Given the description of an element on the screen output the (x, y) to click on. 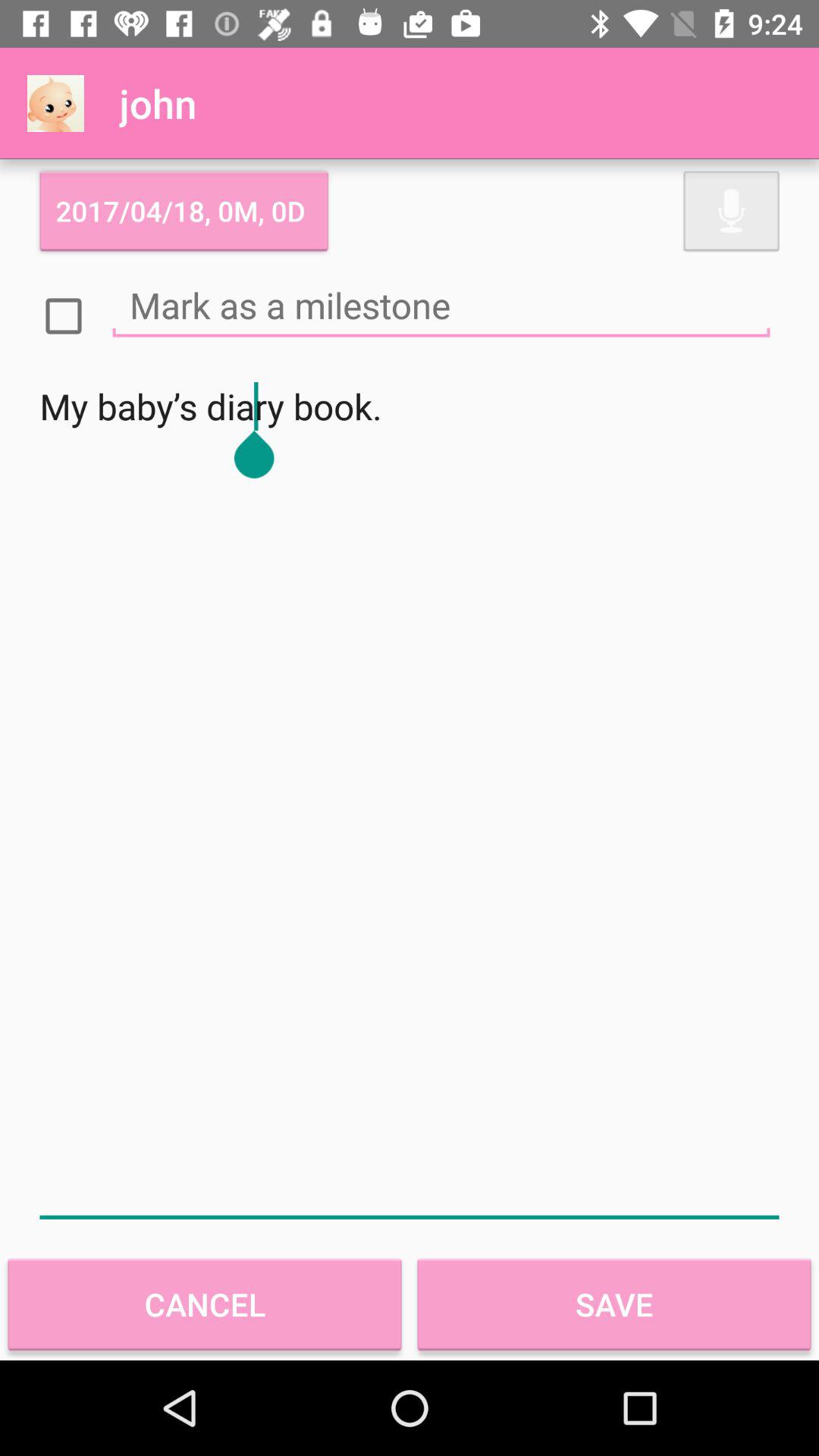
notes typing option (440, 305)
